Given the description of an element on the screen output the (x, y) to click on. 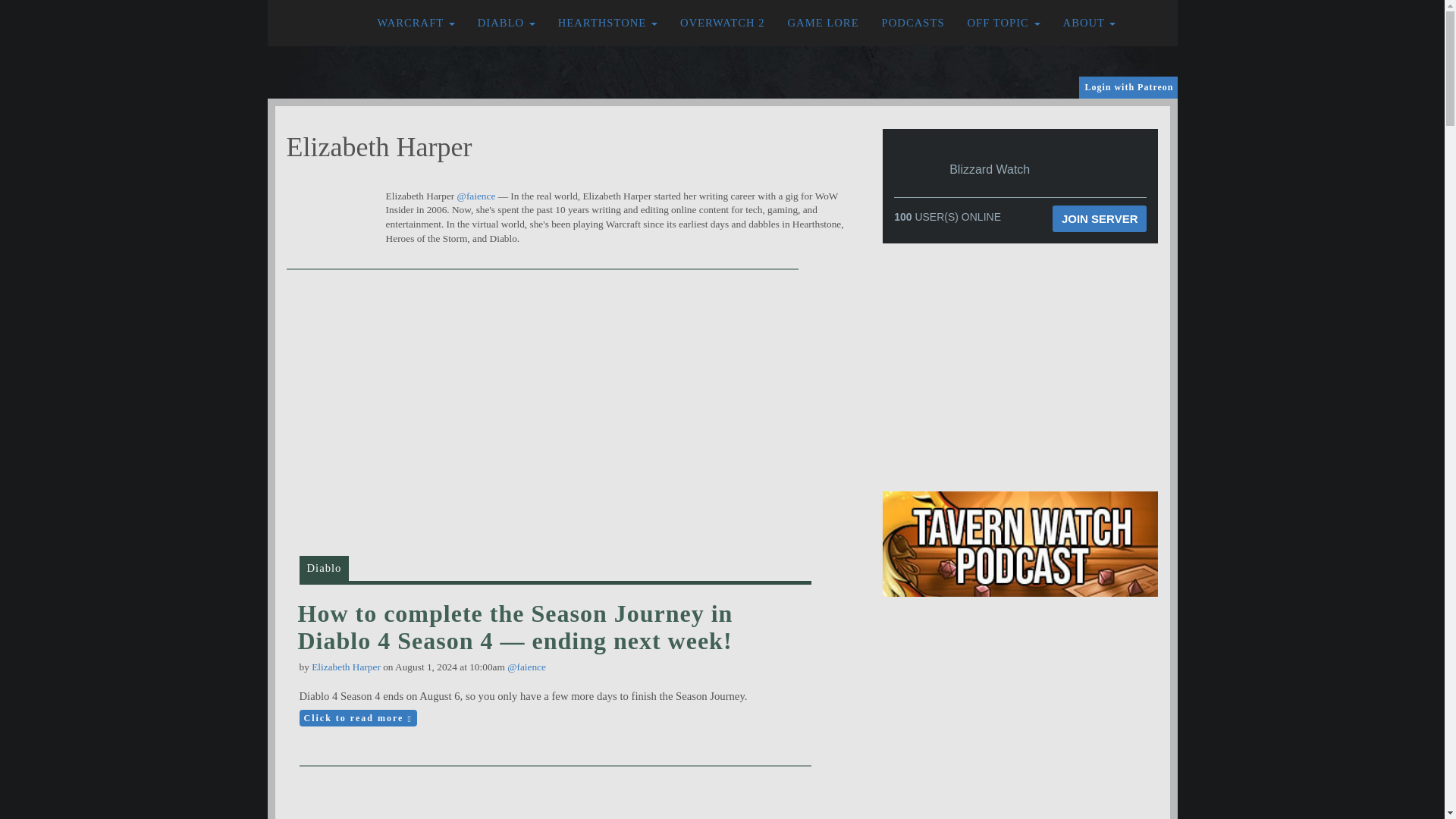
Game Lore (823, 22)
Podcasts (913, 22)
DIABLO (506, 22)
Diablo (506, 22)
PODCASTS (913, 22)
Off Topic (1003, 22)
Login with Patreon (1128, 86)
GAME LORE (823, 22)
Hearthstone (607, 22)
ABOUT (1088, 22)
OFF TOPIC (1003, 22)
Elizabeth Harper (345, 666)
OVERWATCH 2 (722, 22)
HEARTHSTONE (607, 22)
